Given the description of an element on the screen output the (x, y) to click on. 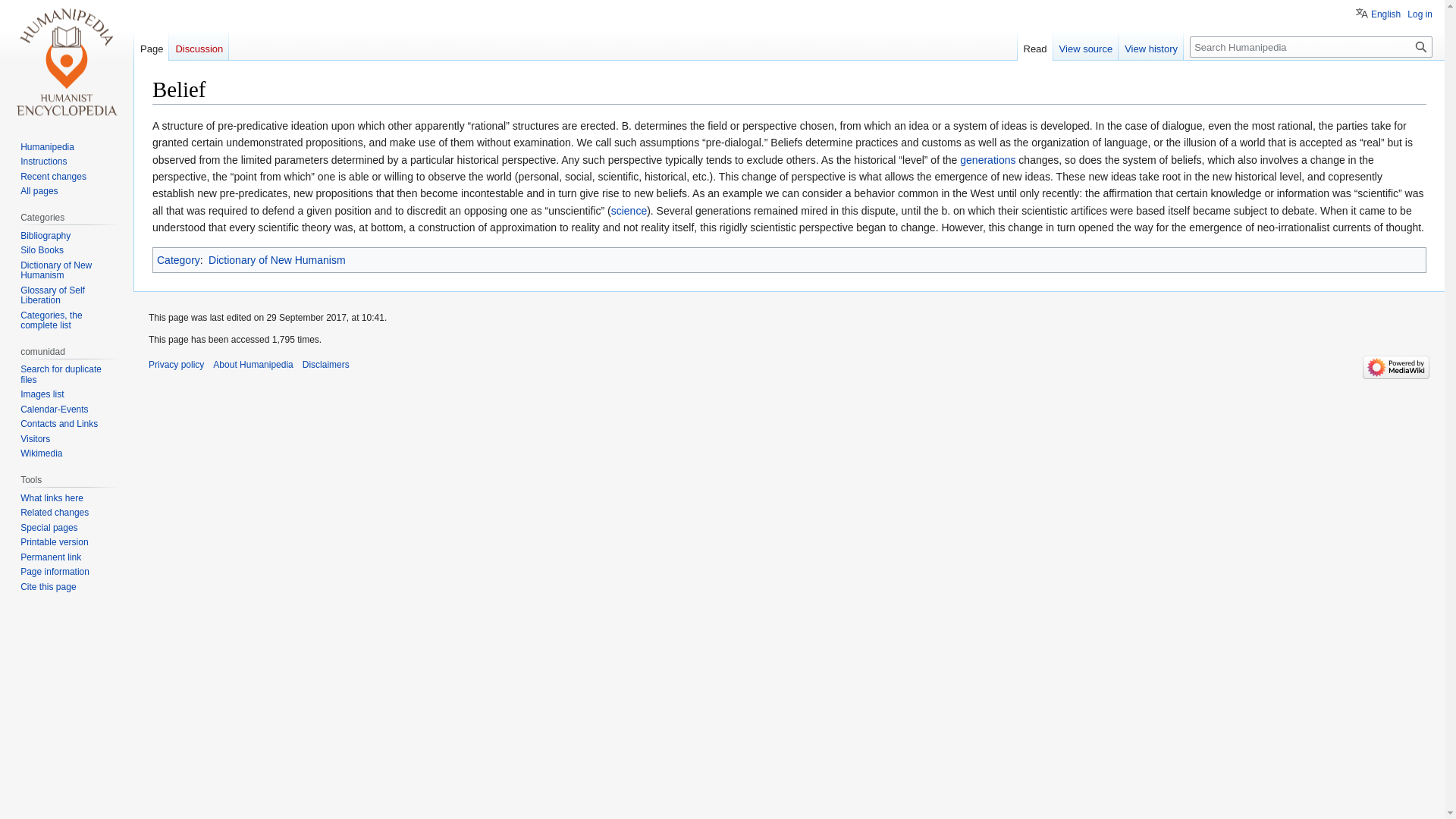
Related changes (54, 511)
Cite this page (47, 586)
Contacts and Links (58, 423)
Instructions (43, 161)
English (1377, 11)
Special pages (48, 527)
Generations (986, 159)
Page (150, 45)
science (628, 210)
Visit the main page (66, 60)
